Given the description of an element on the screen output the (x, y) to click on. 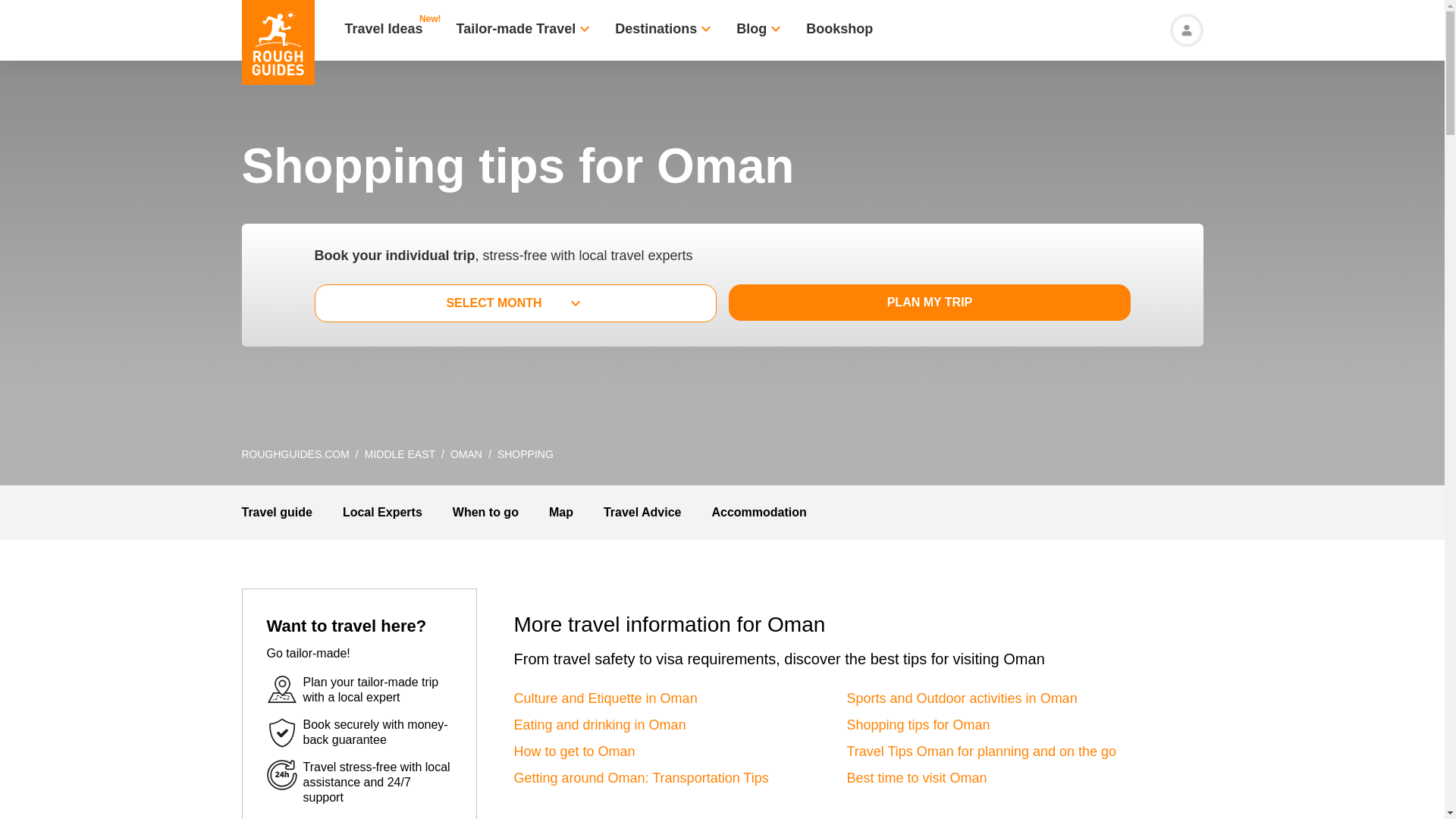
OMAN (465, 454)
How to get to Oman (573, 751)
Travel guide (276, 512)
Travel Advice (642, 512)
Eating and drinking in Oman (599, 724)
Travel Tips Oman for planning and on the go (980, 751)
Blog (751, 29)
ROUGHGUIDES.COM (295, 454)
Bookshop (839, 29)
Shopping tips for Oman (917, 724)
